Given the description of an element on the screen output the (x, y) to click on. 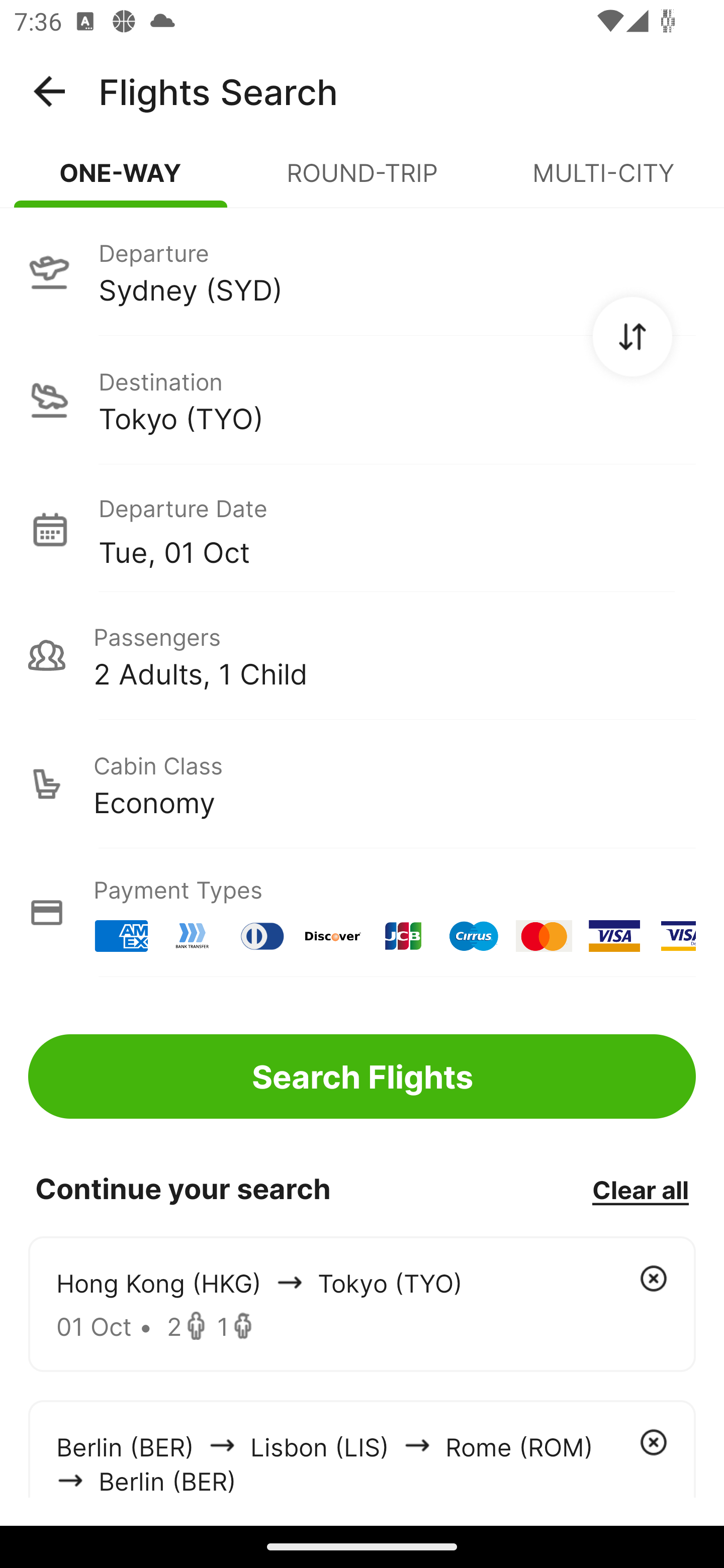
ONE-WAY (120, 180)
ROUND-TRIP (361, 180)
MULTI-CITY (603, 180)
Departure Sydney (SYD) (362, 270)
Destination Tokyo (TYO) (362, 400)
Departure Date Tue, 01 Oct (396, 528)
Passengers 2 Adults, 1 Child (362, 655)
Cabin Class Economy (362, 783)
Payment Types (362, 912)
Search Flights (361, 1075)
Clear all (640, 1189)
